Given the description of an element on the screen output the (x, y) to click on. 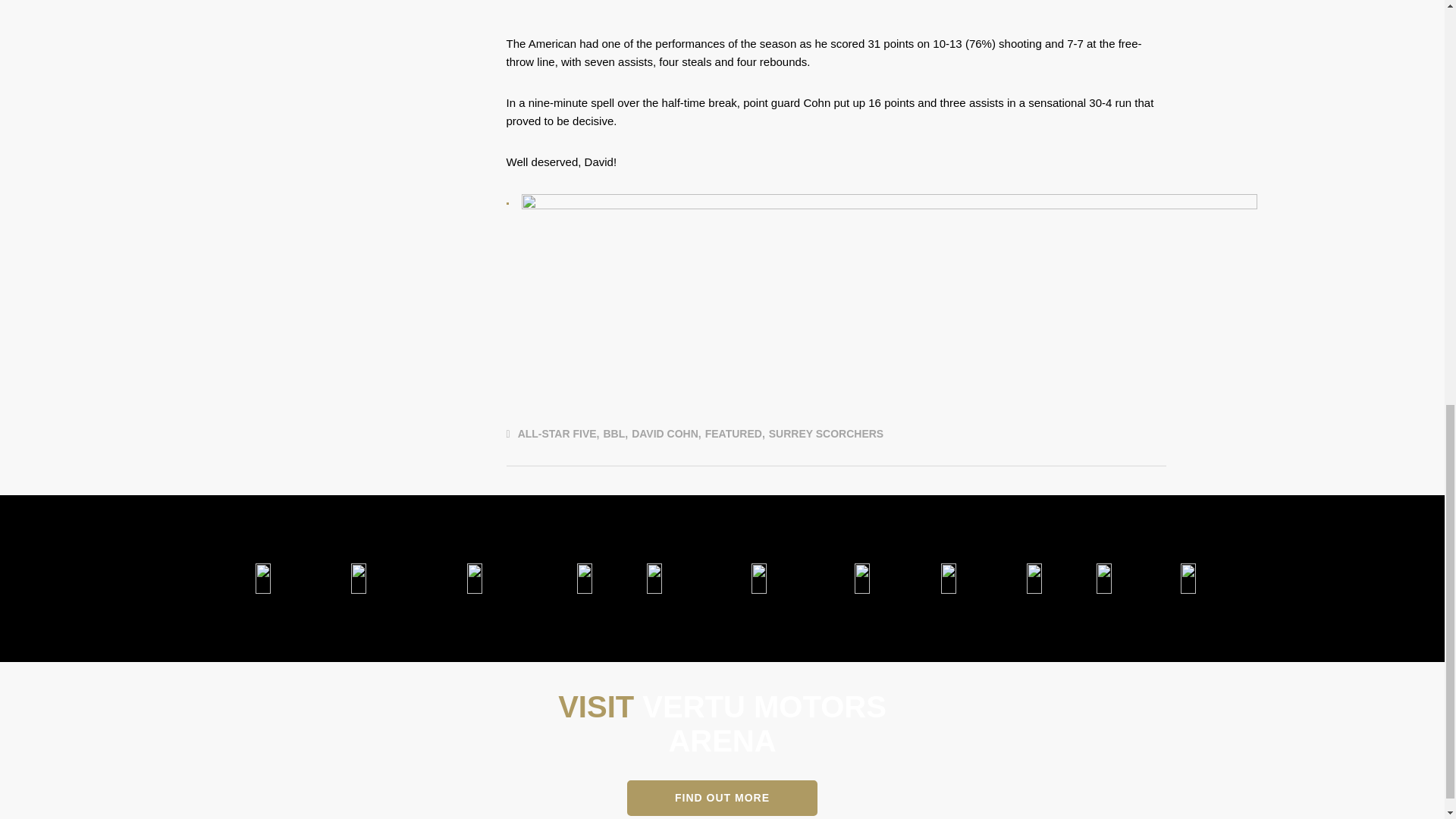
Newcastle International Airport (759, 578)
Maldron Hotel Newcastle (358, 578)
Synergy Sports (1034, 578)
Vertu Honda (262, 578)
Simpson Group (653, 578)
Northumbria Health (584, 578)
Sure Shot (1103, 578)
Kappa (862, 578)
Molten (947, 578)
Muckle LLP (473, 578)
Dynamik (1188, 578)
